Given the description of an element on the screen output the (x, y) to click on. 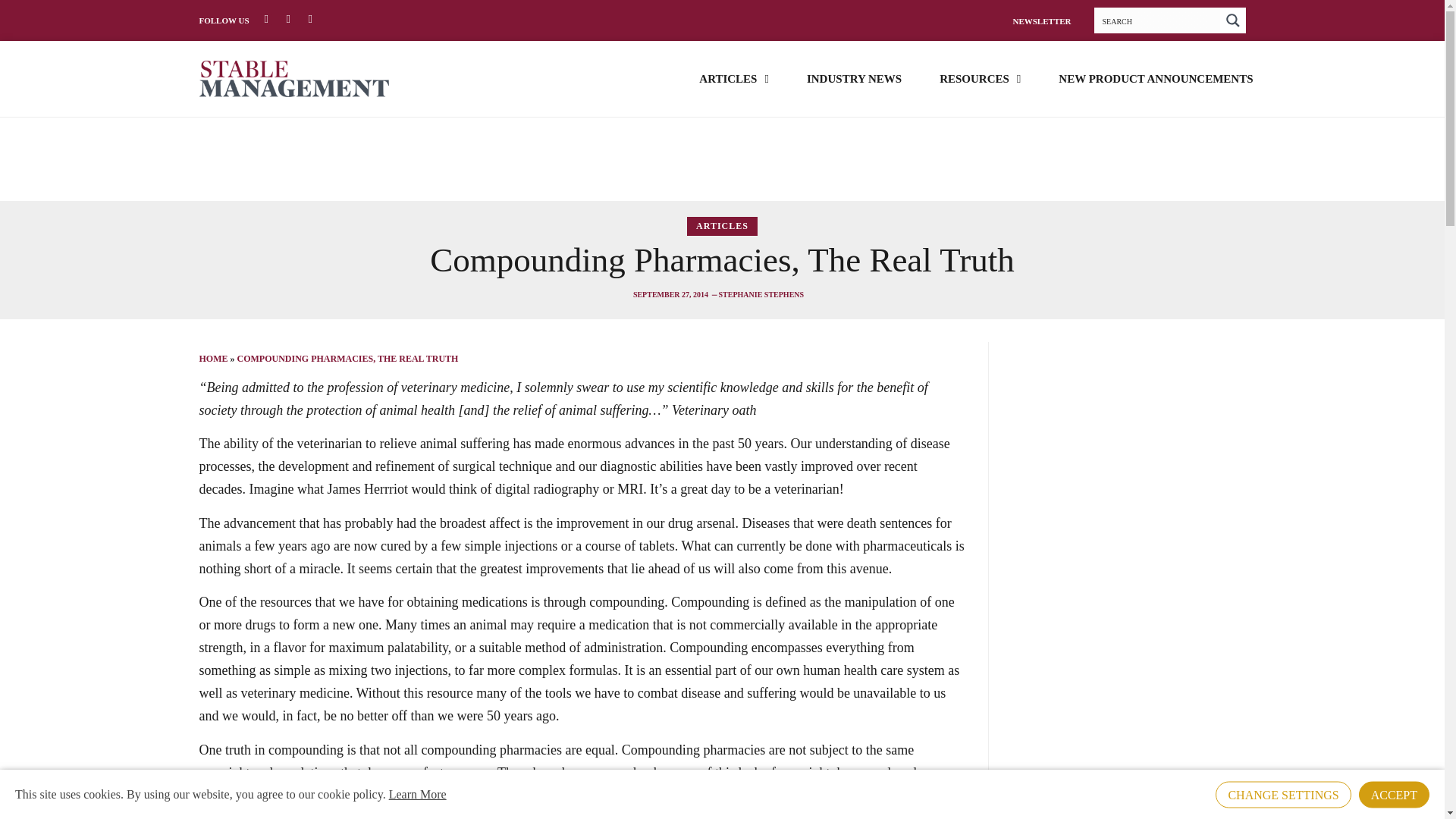
NEWSLETTER (1040, 20)
RESOURCES (979, 78)
ARTICLES (733, 78)
NEW PRODUCT ANNOUNCEMENTS (1155, 78)
INDUSTRY NEWS (853, 78)
3rd party ad content (721, 159)
